Given the description of an element on the screen output the (x, y) to click on. 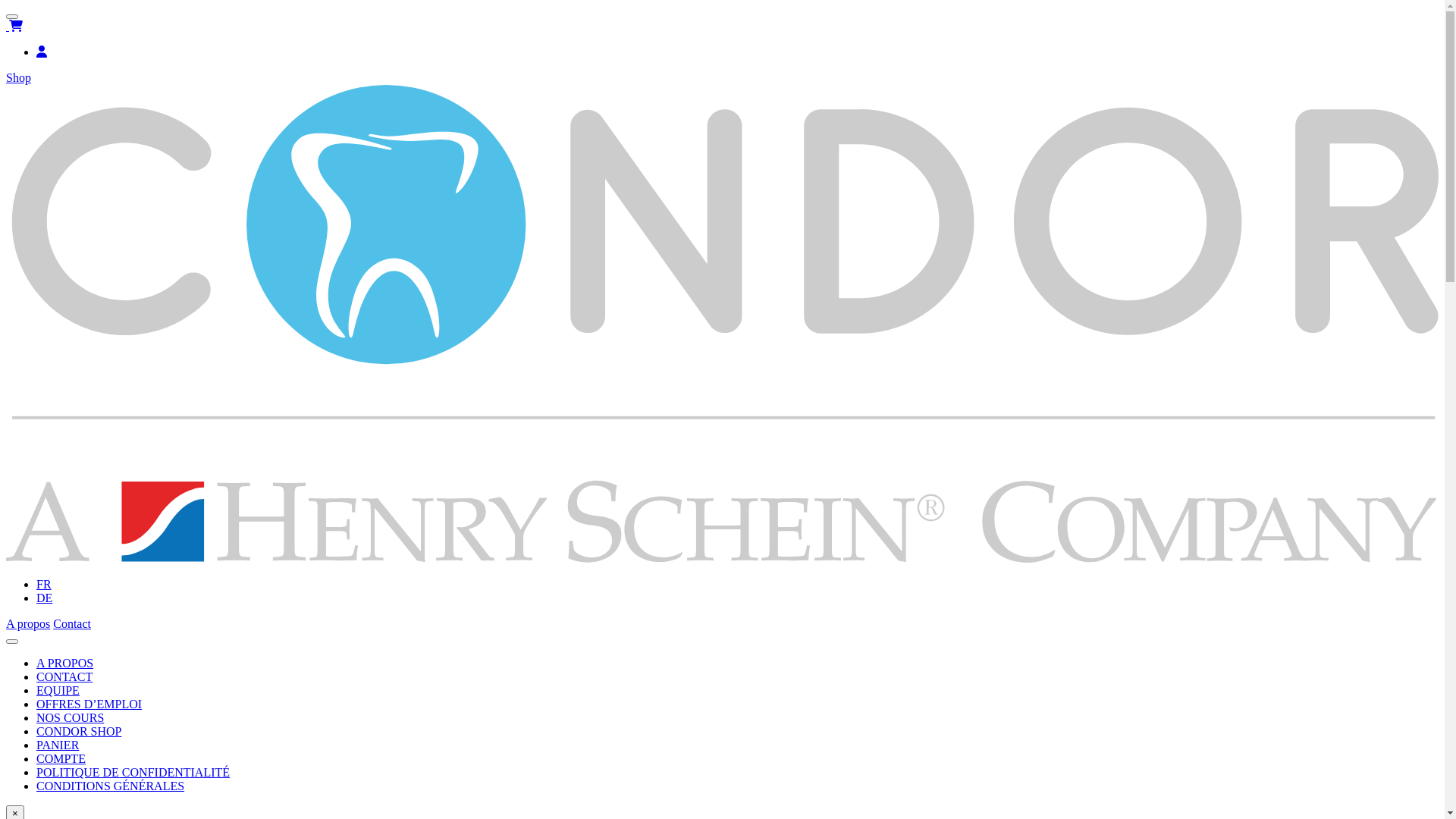
A PROPOS Element type: text (64, 662)
A propos Element type: text (28, 623)
FR Element type: text (43, 583)
   Element type: text (15, 25)
CONDOR SHOP Element type: text (78, 730)
EQUIPE Element type: text (57, 690)
DE Element type: text (44, 597)
PANIER Element type: text (57, 744)
Contact Element type: text (72, 623)
NOS COURS Element type: text (69, 717)
Aller au contenu principal Element type: text (6, 6)
Close navigation Element type: text (12, 641)
COMPTE Element type: text (60, 758)
Accueil Element type: hover (722, 558)
CONTACT Element type: text (64, 676)
Shop Element type: text (18, 77)
